Given the description of an element on the screen output the (x, y) to click on. 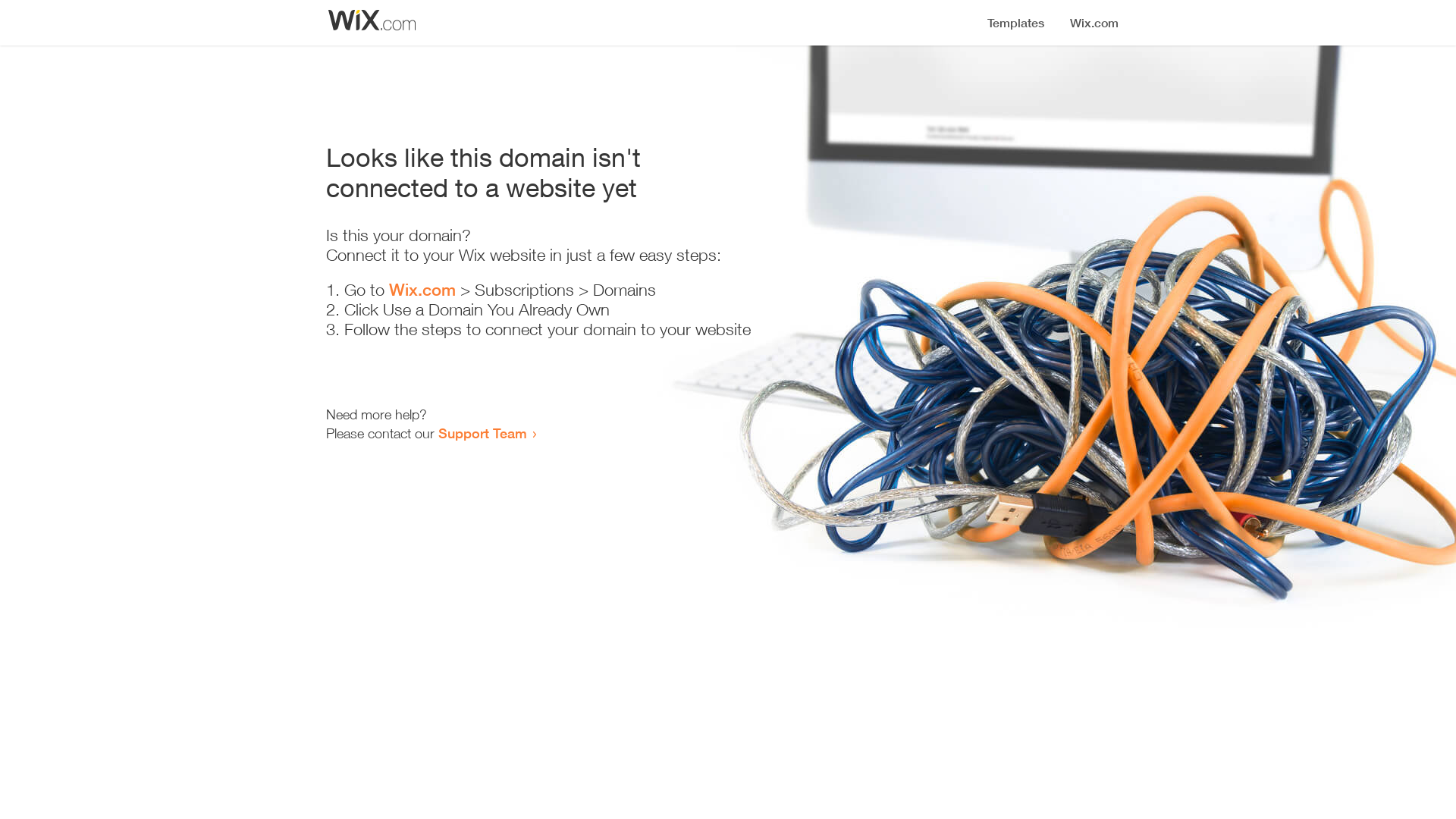
Support Team Element type: text (482, 432)
Wix.com Element type: text (422, 289)
